Given the description of an element on the screen output the (x, y) to click on. 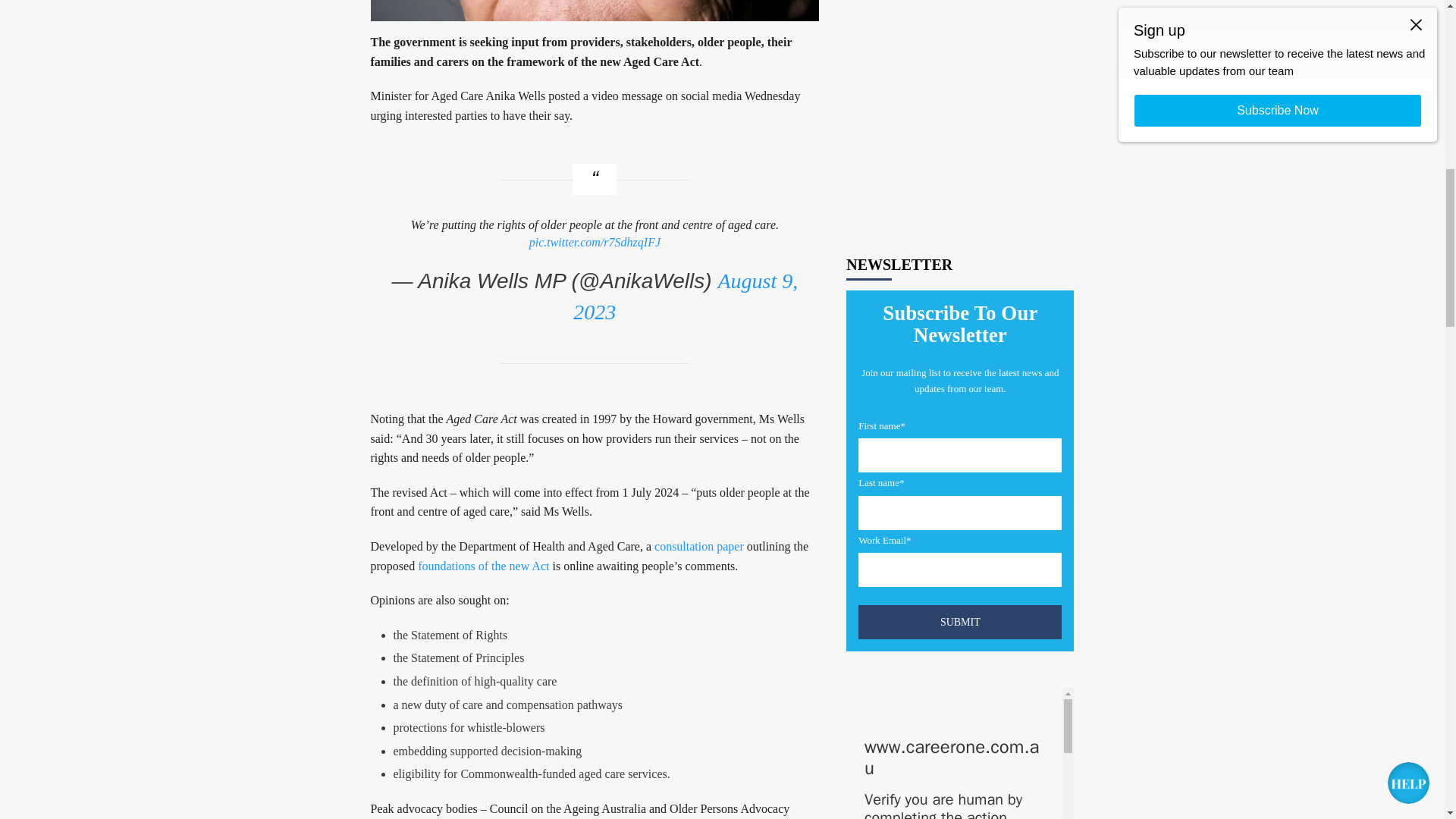
August 9, 2023 (685, 295)
consultation paper (698, 545)
Submit (960, 181)
foundations of the new Act (482, 565)
